Given the description of an element on the screen output the (x, y) to click on. 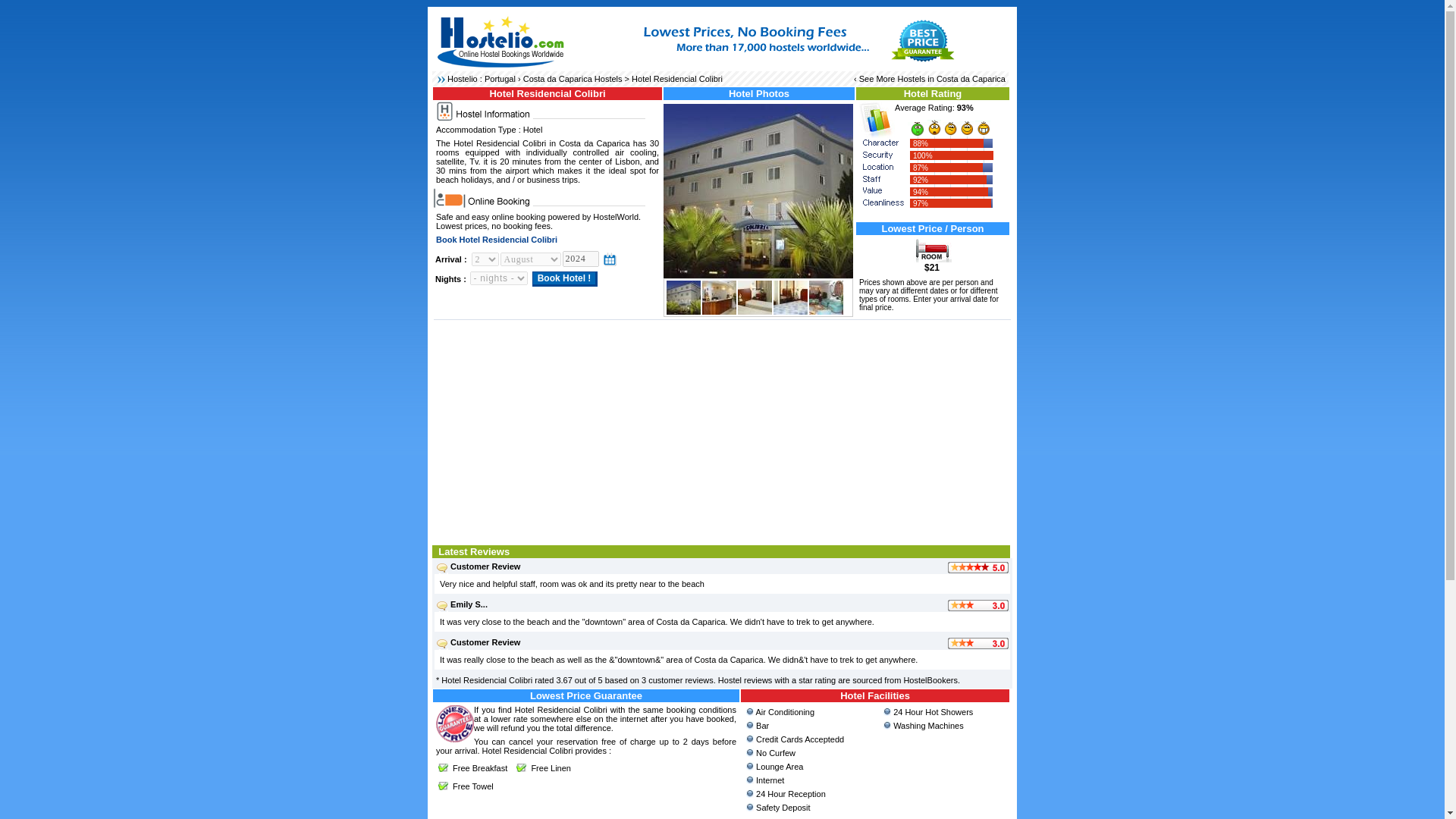
Portugal (499, 78)
Hostels in Costa da Caparica (952, 78)
Costa da Caparica Hostels (572, 78)
Advertisement (721, 430)
Year (580, 258)
Book Hotel ! (565, 278)
2024 (580, 258)
